Given the description of an element on the screen output the (x, y) to click on. 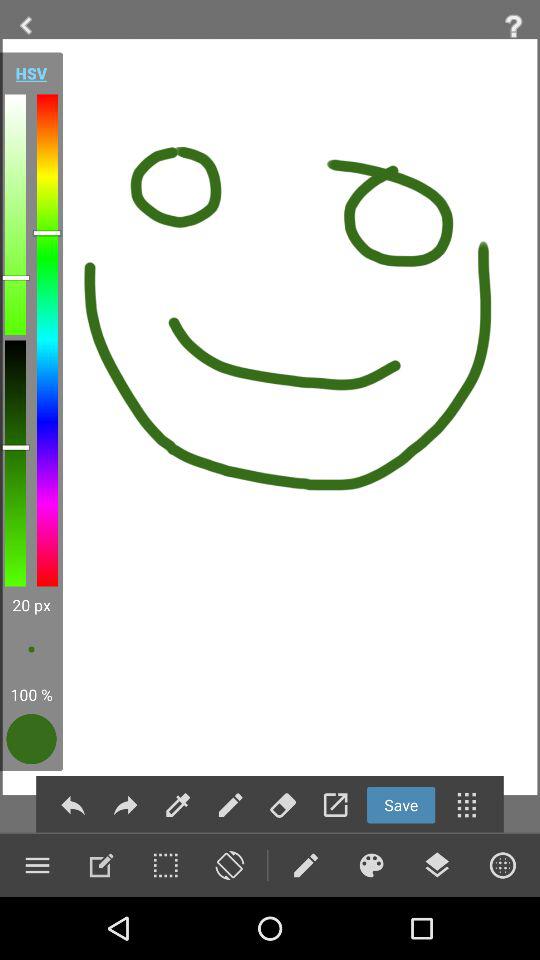
edit (177, 804)
